Given the description of an element on the screen output the (x, y) to click on. 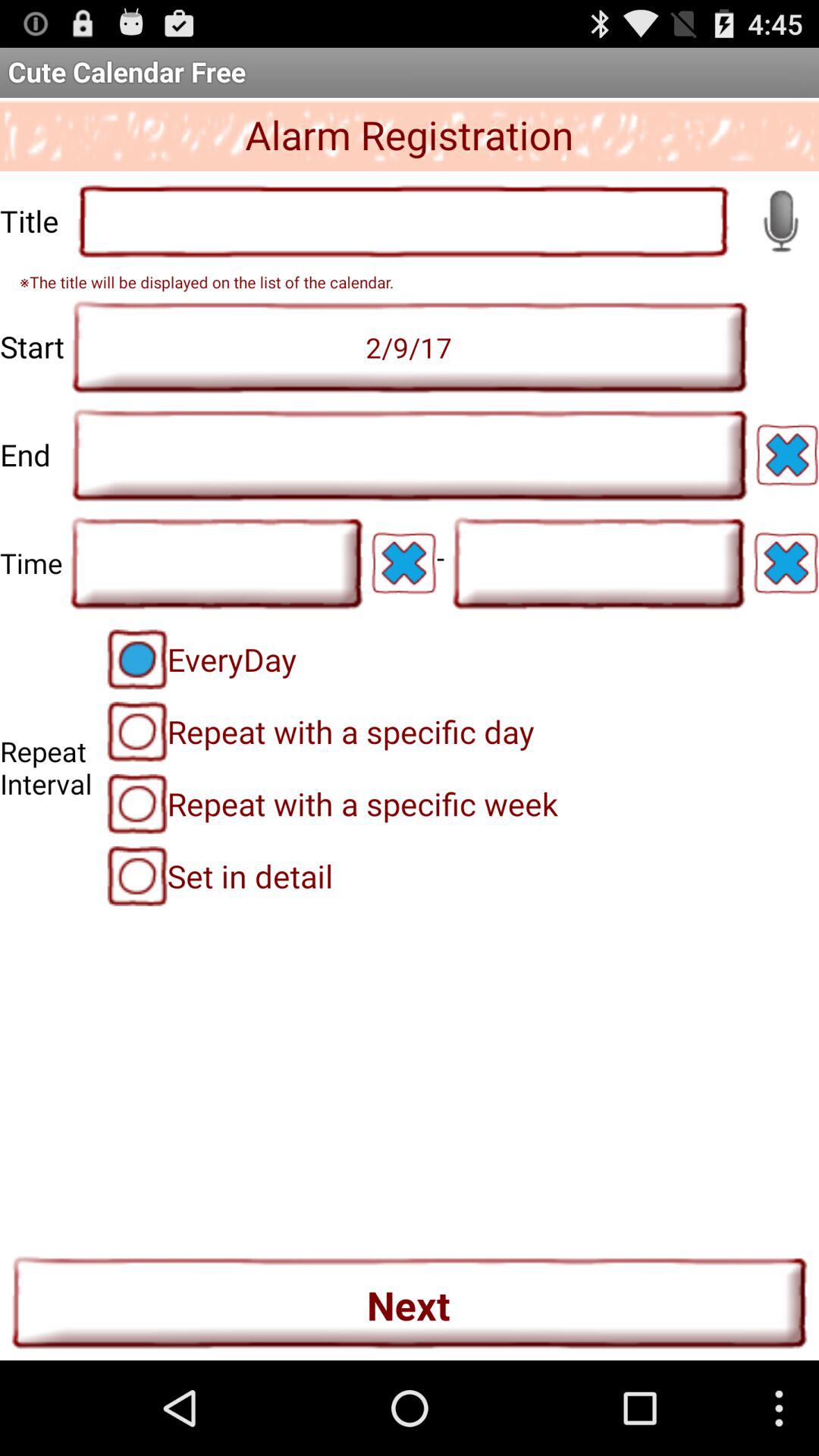
clear this item (786, 562)
